Given the description of an element on the screen output the (x, y) to click on. 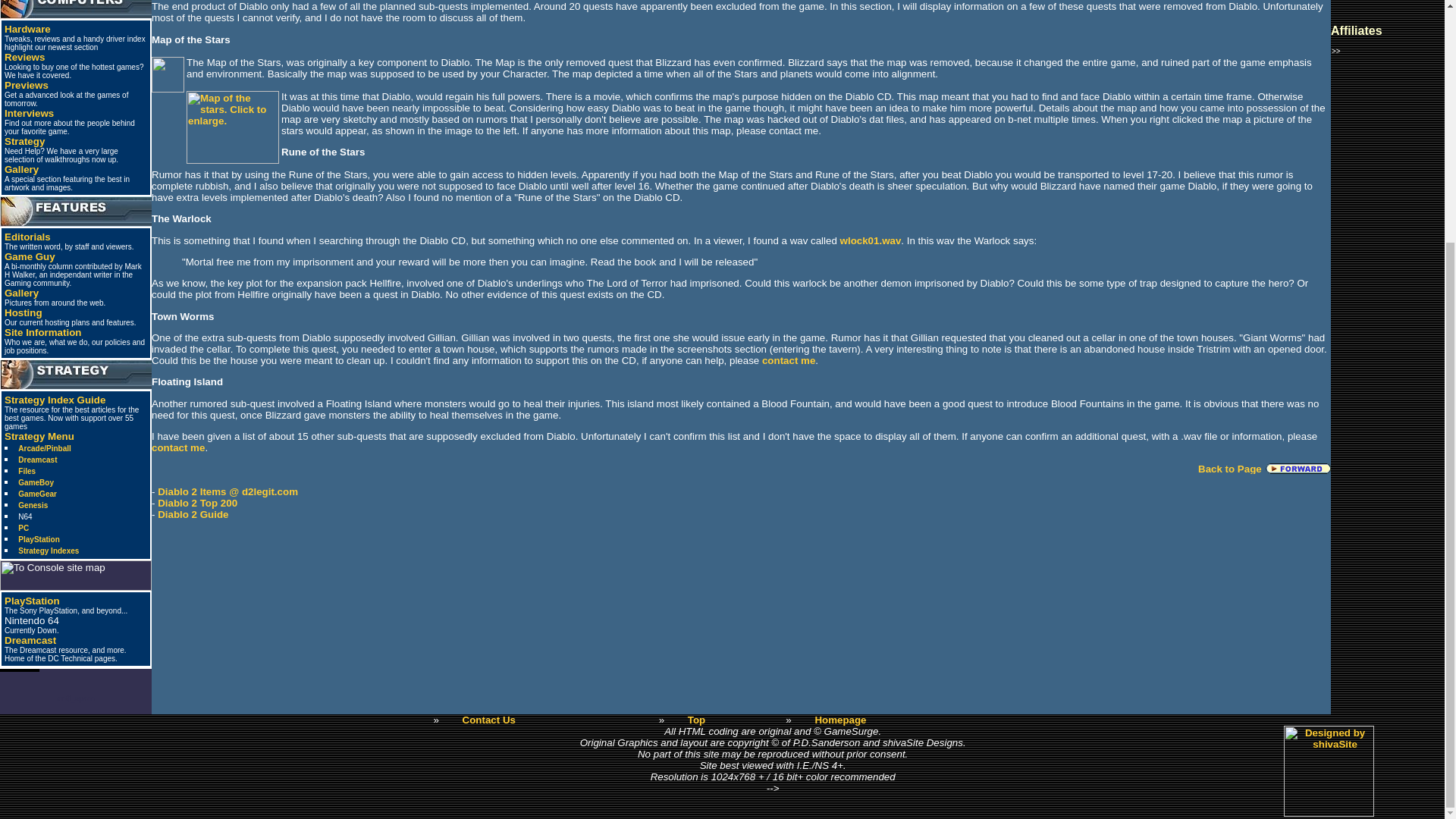
Gallery (21, 169)
GameGear (36, 493)
Hosting (23, 312)
Strategy Index Guide (54, 399)
Dreamcast (30, 640)
GameBoy (35, 482)
Reviews (24, 57)
Gallery (21, 292)
Game Guy (29, 256)
PlayStation (31, 600)
Interviews (28, 112)
Strategy Indexes (47, 551)
Genesis (32, 505)
PlayStation (38, 539)
